Given the description of an element on the screen output the (x, y) to click on. 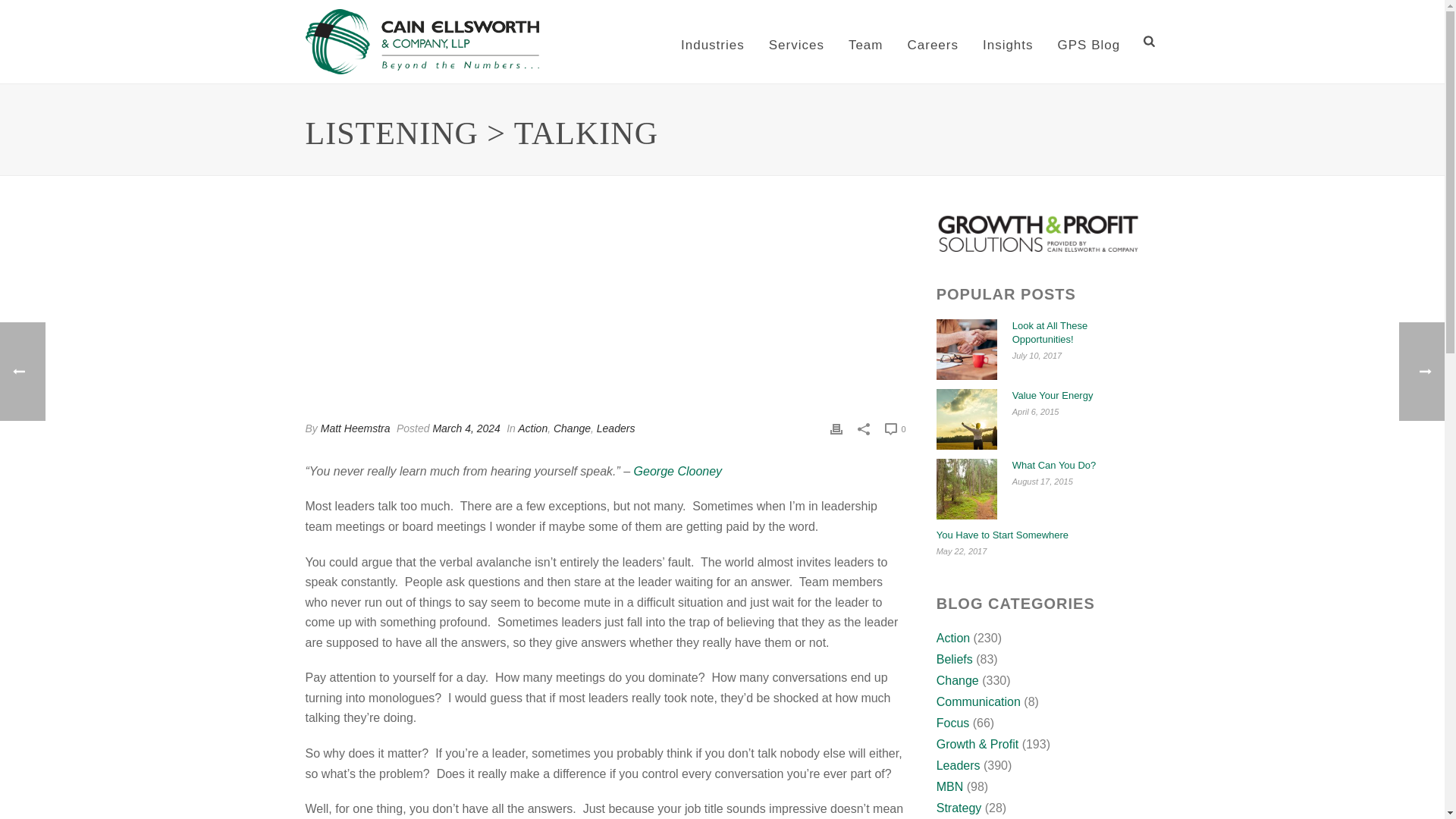
0 (894, 428)
Print (835, 428)
Change (572, 428)
Careers (932, 41)
Action (532, 428)
Careers (932, 41)
Leaders (615, 428)
GPS Blog (1088, 41)
Insights (1008, 41)
Matt Heemstra (355, 428)
Value Your Energy (966, 419)
Look at All These Opportunities! (966, 349)
Posts by Matt Heemstra (355, 428)
Industries (712, 41)
Insights (1008, 41)
